Given the description of an element on the screen output the (x, y) to click on. 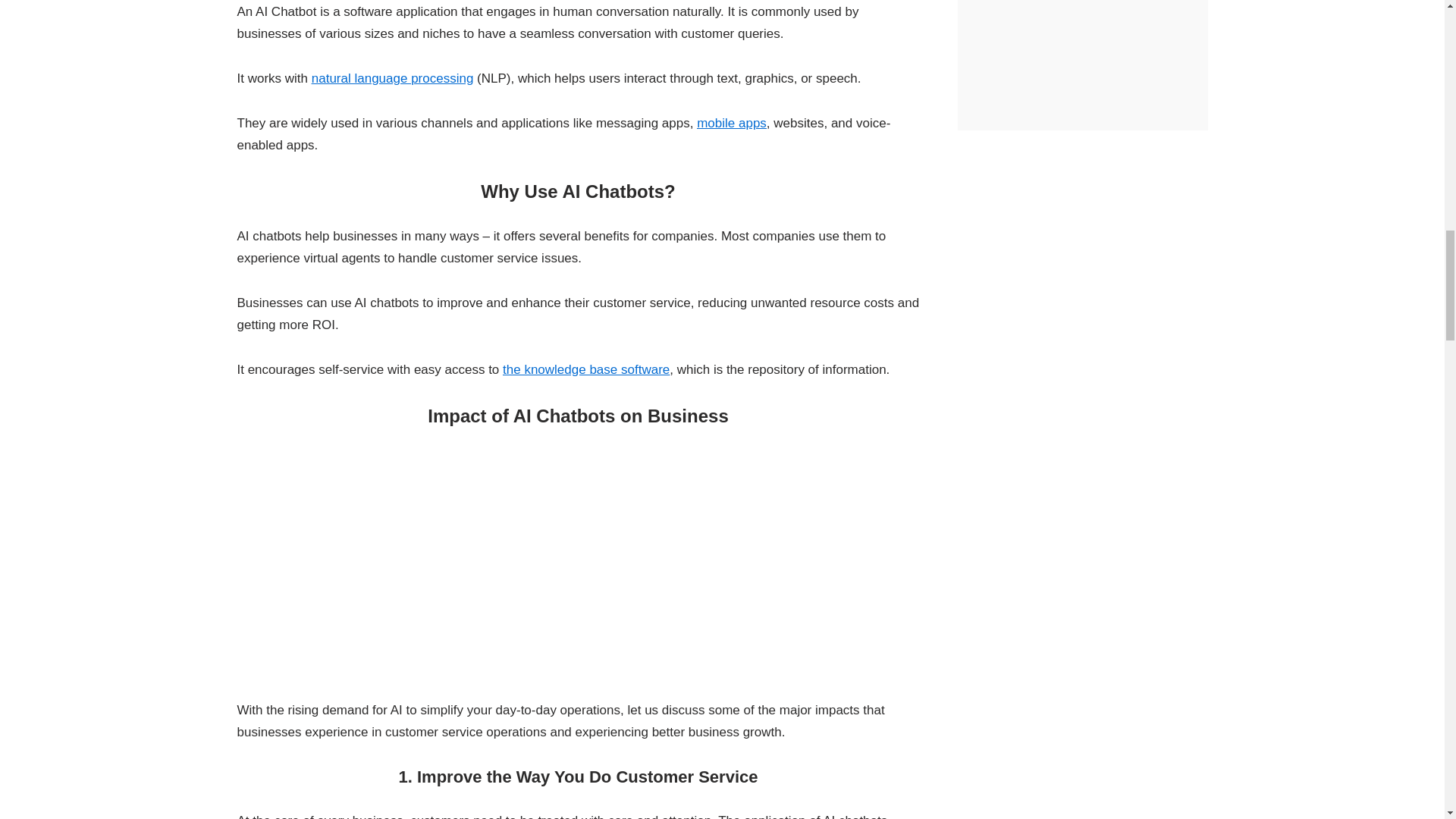
Business (577, 563)
mobile apps (732, 123)
the knowledge base software (585, 369)
natural language processing (392, 78)
